Given the description of an element on the screen output the (x, y) to click on. 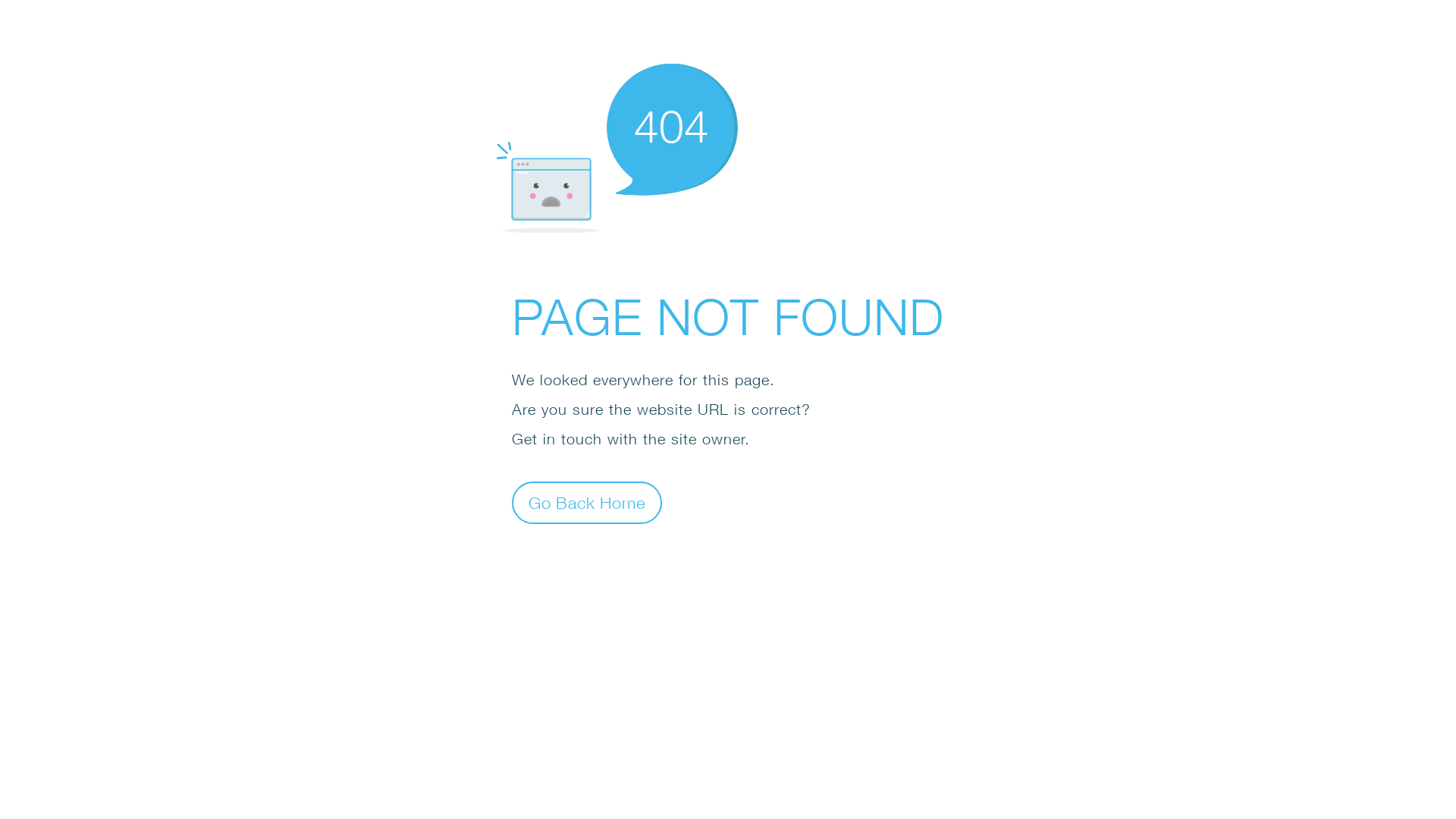
Go Back Home Element type: text (586, 502)
